Given the description of an element on the screen output the (x, y) to click on. 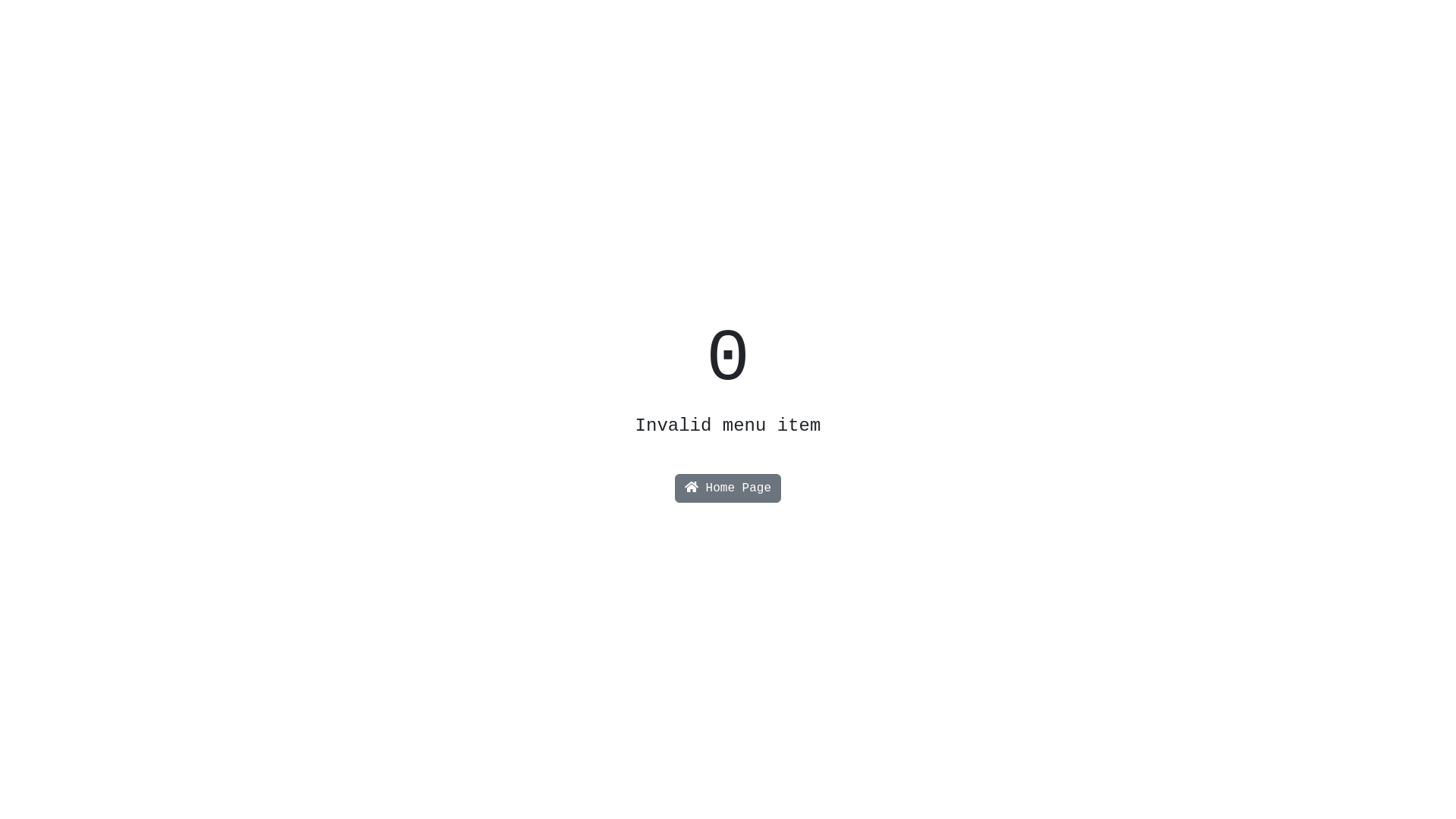
Home Page Element type: text (727, 487)
